Given the description of an element on the screen output the (x, y) to click on. 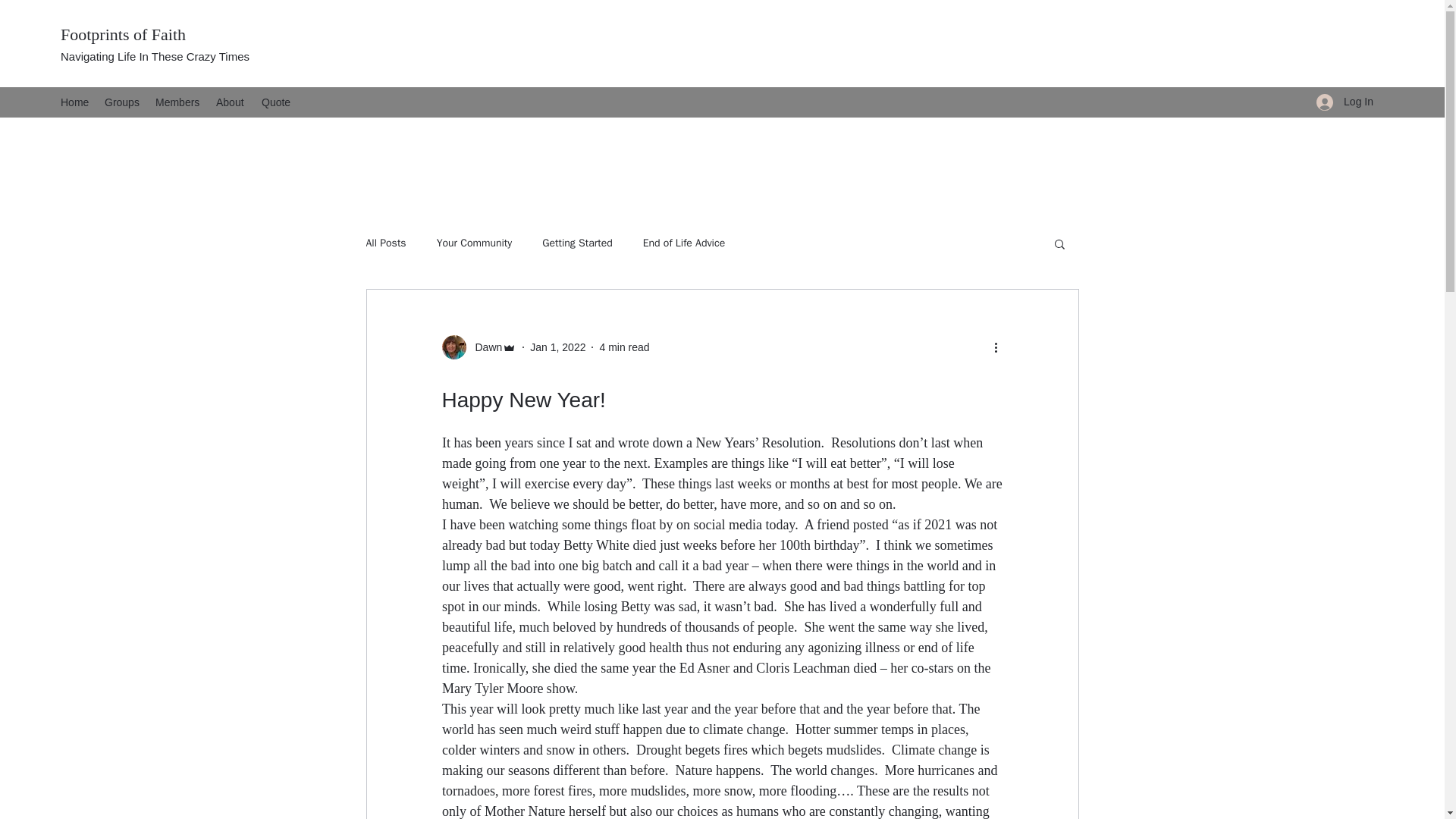
Getting Started (576, 243)
Footprints of Faith (123, 34)
Jan 1, 2022 (557, 346)
Dawn (483, 347)
Home (74, 101)
Quote (276, 101)
Your Community (474, 243)
End of Life Advice (684, 243)
4 min read (623, 346)
Dawn (478, 346)
Log In (1345, 101)
All Posts (385, 243)
About (230, 101)
Members (178, 101)
Groups (122, 101)
